Given the description of an element on the screen output the (x, y) to click on. 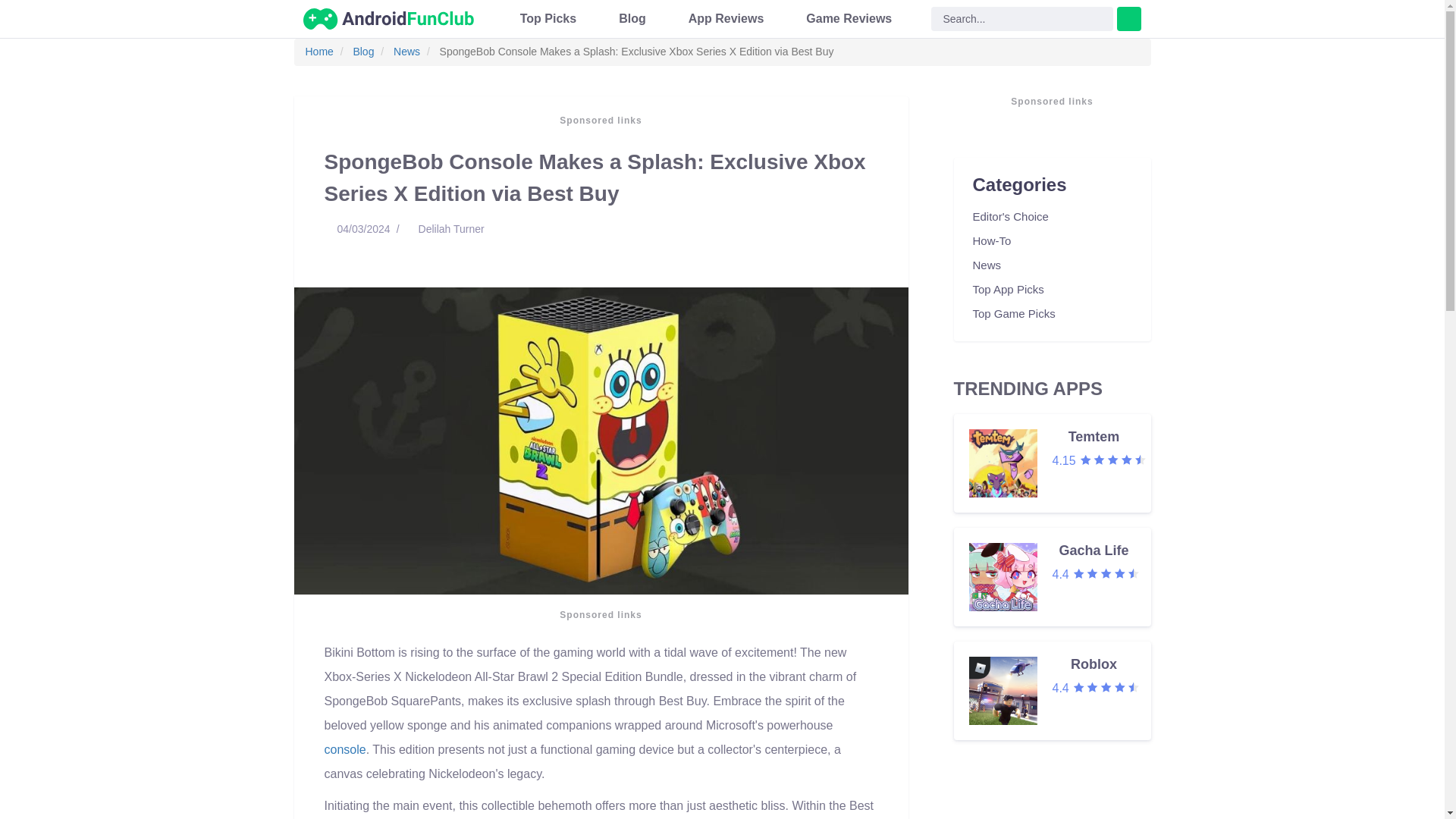
App Reviews (1052, 576)
Top Game Picks (726, 18)
Home (1013, 313)
News (318, 51)
User rating 4.4 (406, 51)
Top App Picks (1106, 573)
Editor'S Choice (1007, 289)
Top Picks (1010, 216)
News (547, 18)
console (986, 265)
User rating 4.4 (345, 748)
How-To (1106, 686)
Blog (991, 240)
